Given the description of an element on the screen output the (x, y) to click on. 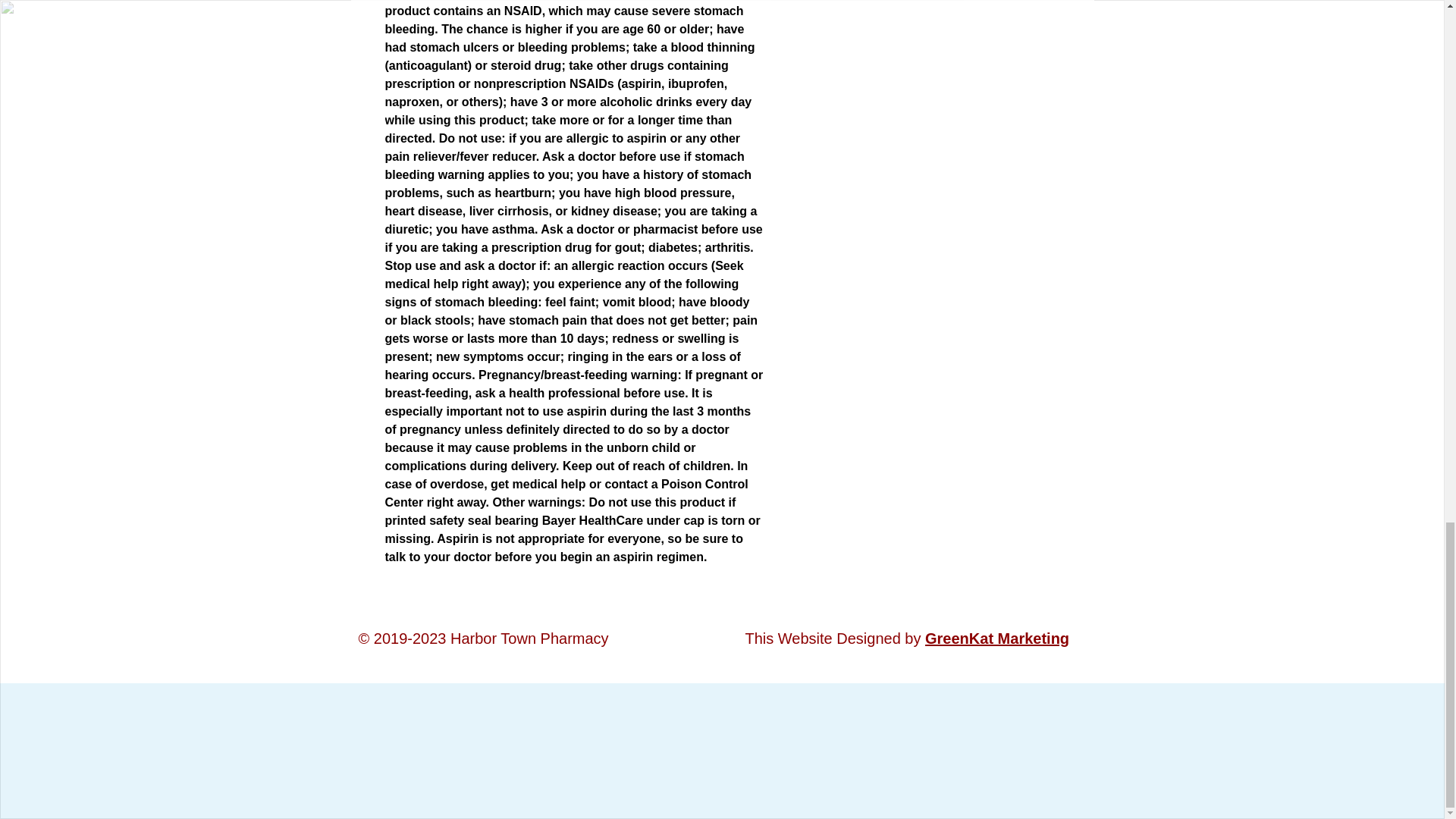
GreenKat Marketing (996, 638)
